Given the description of an element on the screen output the (x, y) to click on. 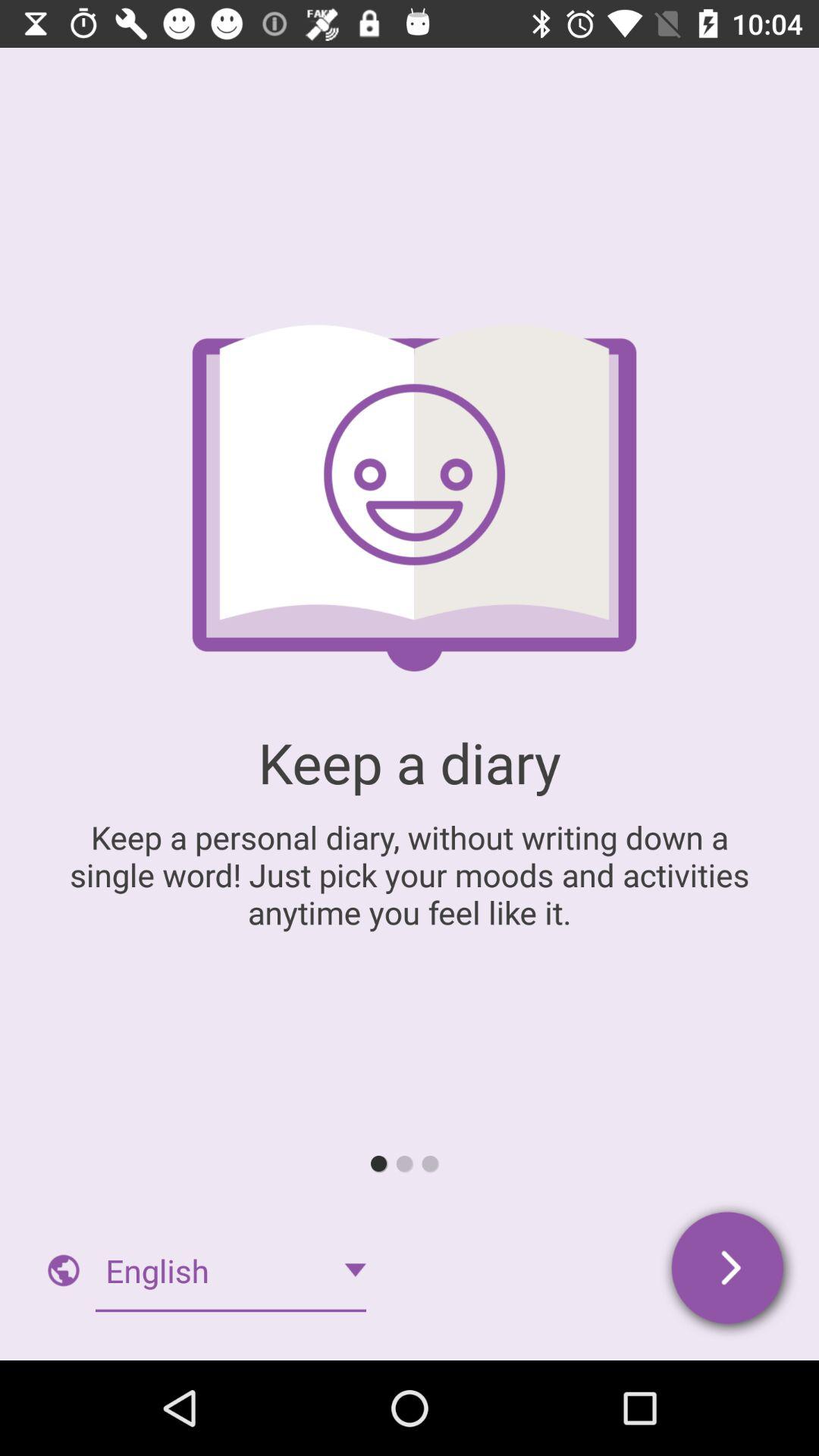
diary (729, 1270)
